Given the description of an element on the screen output the (x, y) to click on. 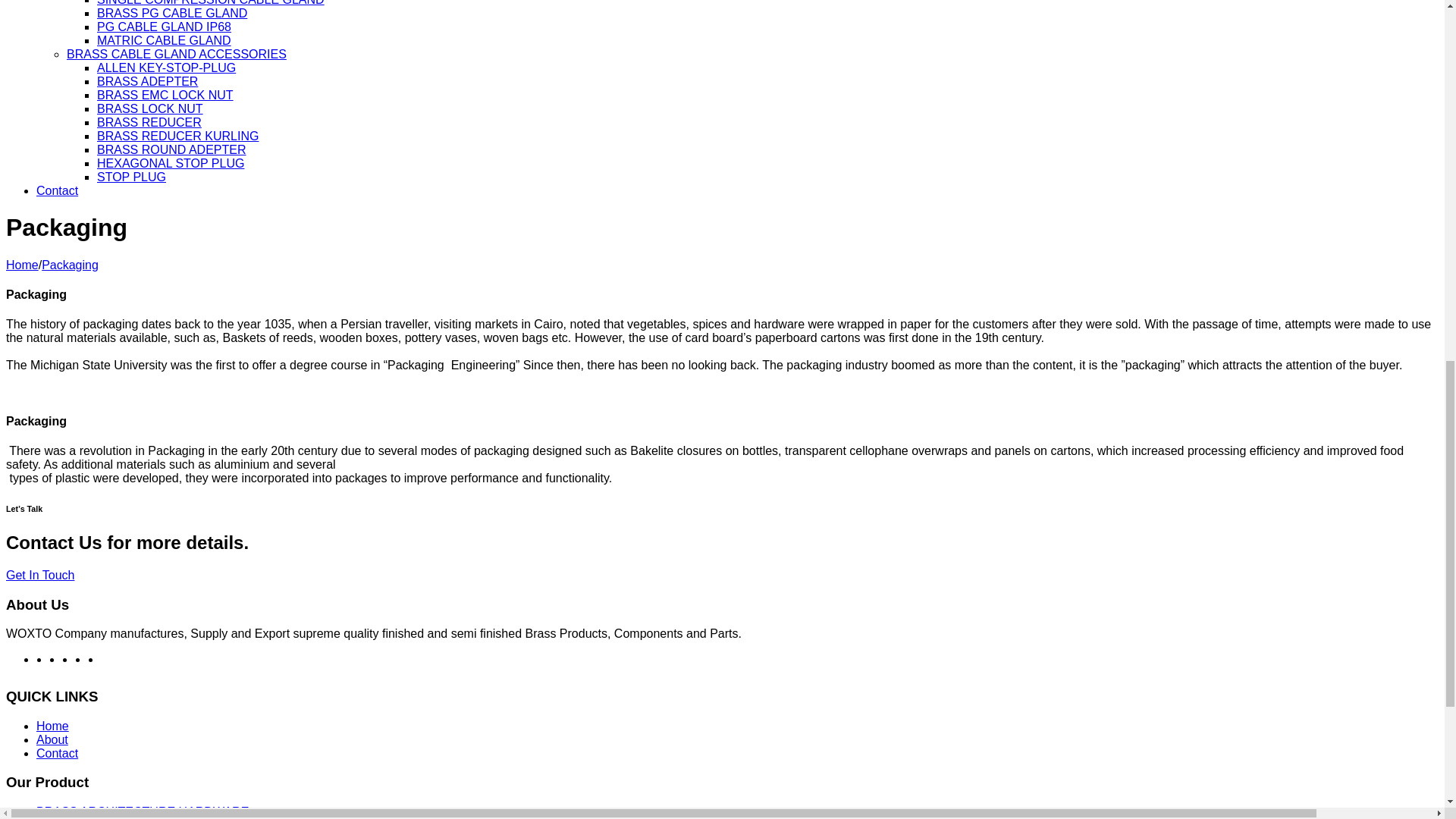
BRASS REDUCER (149, 122)
BRASS LOCK NUT (150, 108)
BRASS REDUCER KURLING (178, 135)
PG CABLE GLAND IP68 (164, 26)
BRASS ADEPTER (147, 81)
BRASS PG CABLE GLAND (172, 12)
ALLEN KEY-STOP-PLUG (166, 67)
SINGLE COMPRESSION CABLE GLAND (210, 2)
BRASS EMC LOCK NUT (164, 94)
BRASS CABLE GLAND ACCESSORIES (176, 53)
MATRIC CABLE GLAND (164, 40)
